Given the description of an element on the screen output the (x, y) to click on. 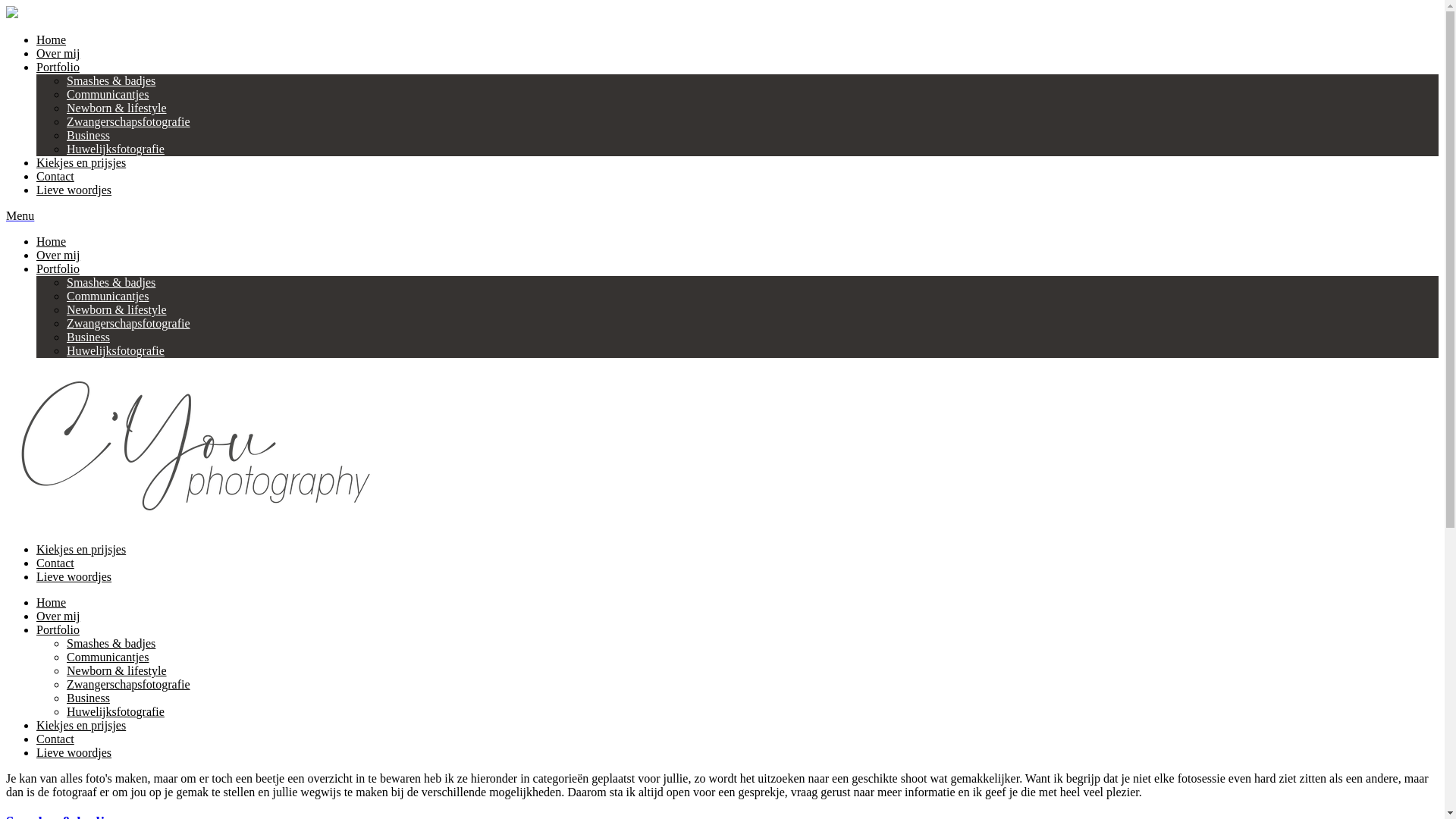
Contact Element type: text (55, 738)
Business Element type: text (87, 697)
Kiekjes en prijsjes Element type: text (80, 724)
Portfolio Element type: text (57, 268)
Newborn & lifestyle Element type: text (116, 107)
Home Element type: text (50, 241)
Communicantjes Element type: text (107, 295)
Communicantjes Element type: text (107, 656)
Huwelijksfotografie Element type: text (115, 350)
Home Element type: text (50, 39)
Over mij Element type: text (57, 53)
Portfolio Element type: text (57, 629)
Zwangerschapsfotografie Element type: text (128, 322)
Kiekjes en prijsjes Element type: text (80, 548)
Smashes & badjes Element type: text (110, 80)
Smashes & badjes Element type: text (110, 282)
Huwelijksfotografie Element type: text (115, 148)
Business Element type: text (87, 336)
Menu Element type: text (20, 215)
Lieve woordjes Element type: text (73, 752)
Contact Element type: text (55, 562)
Newborn & lifestyle Element type: text (116, 309)
Home Element type: text (50, 602)
Contact Element type: text (55, 175)
Zwangerschapsfotografie Element type: text (128, 683)
Over mij Element type: text (57, 254)
Lieve woordjes Element type: text (73, 189)
Lieve woordjes Element type: text (73, 576)
Portfolio Element type: text (57, 66)
Business Element type: text (87, 134)
Communicantjes Element type: text (107, 93)
Kiekjes en prijsjes Element type: text (80, 162)
Huwelijksfotografie Element type: text (115, 711)
Newborn & lifestyle Element type: text (116, 670)
Over mij Element type: text (57, 615)
Smashes & badjes Element type: text (110, 643)
Zwangerschapsfotografie Element type: text (128, 121)
